Given the description of an element on the screen output the (x, y) to click on. 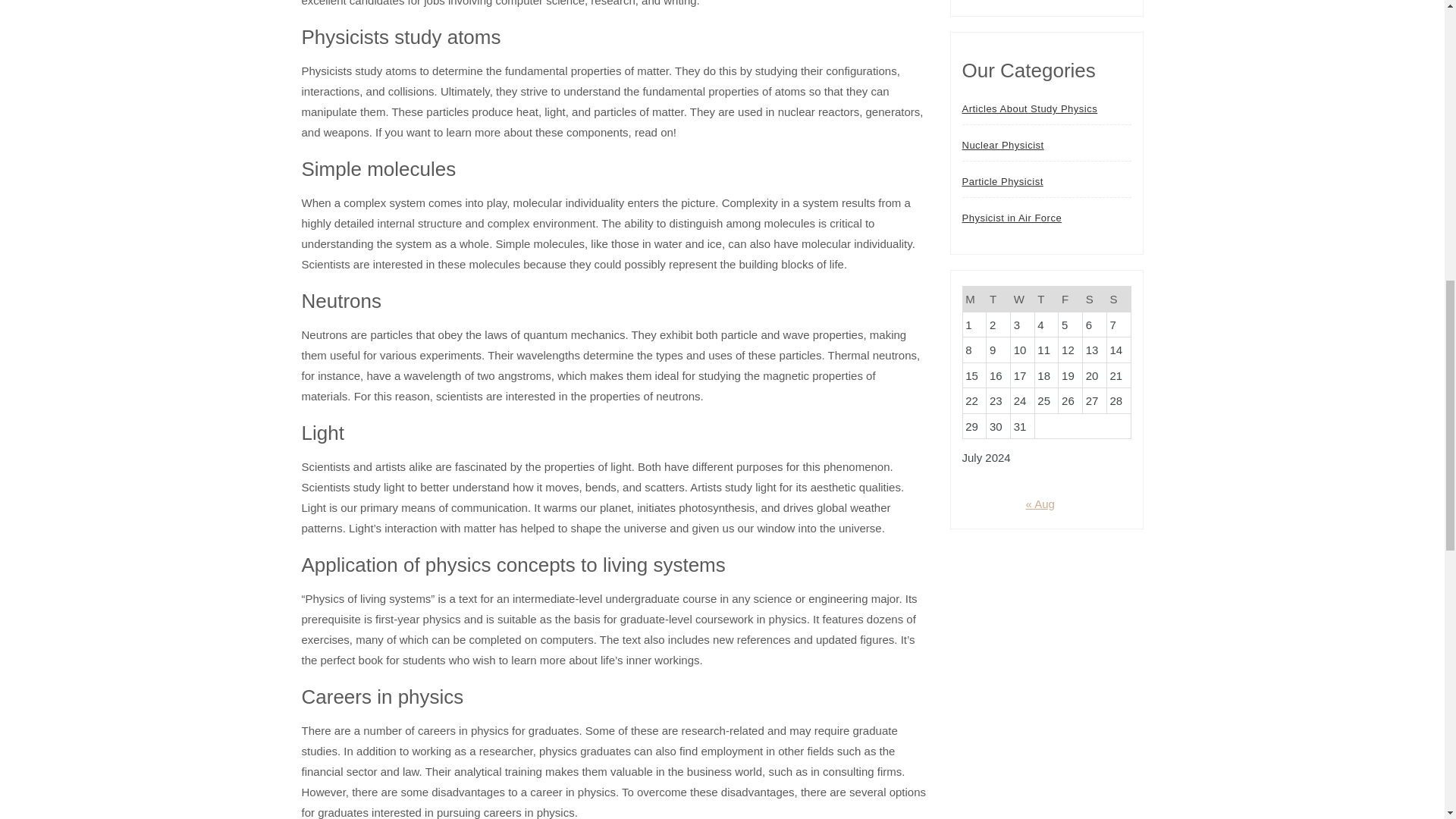
Particle Physicist (1001, 182)
Saturday (1094, 299)
Nuclear Physicist (1001, 145)
Articles About Study Physics (1028, 109)
Thursday (1045, 299)
Wednesday (1021, 299)
Friday (1070, 299)
Monday (974, 299)
Tuesday (998, 299)
Sunday (1118, 299)
Physicist in Air Force (1010, 218)
